Given the description of an element on the screen output the (x, y) to click on. 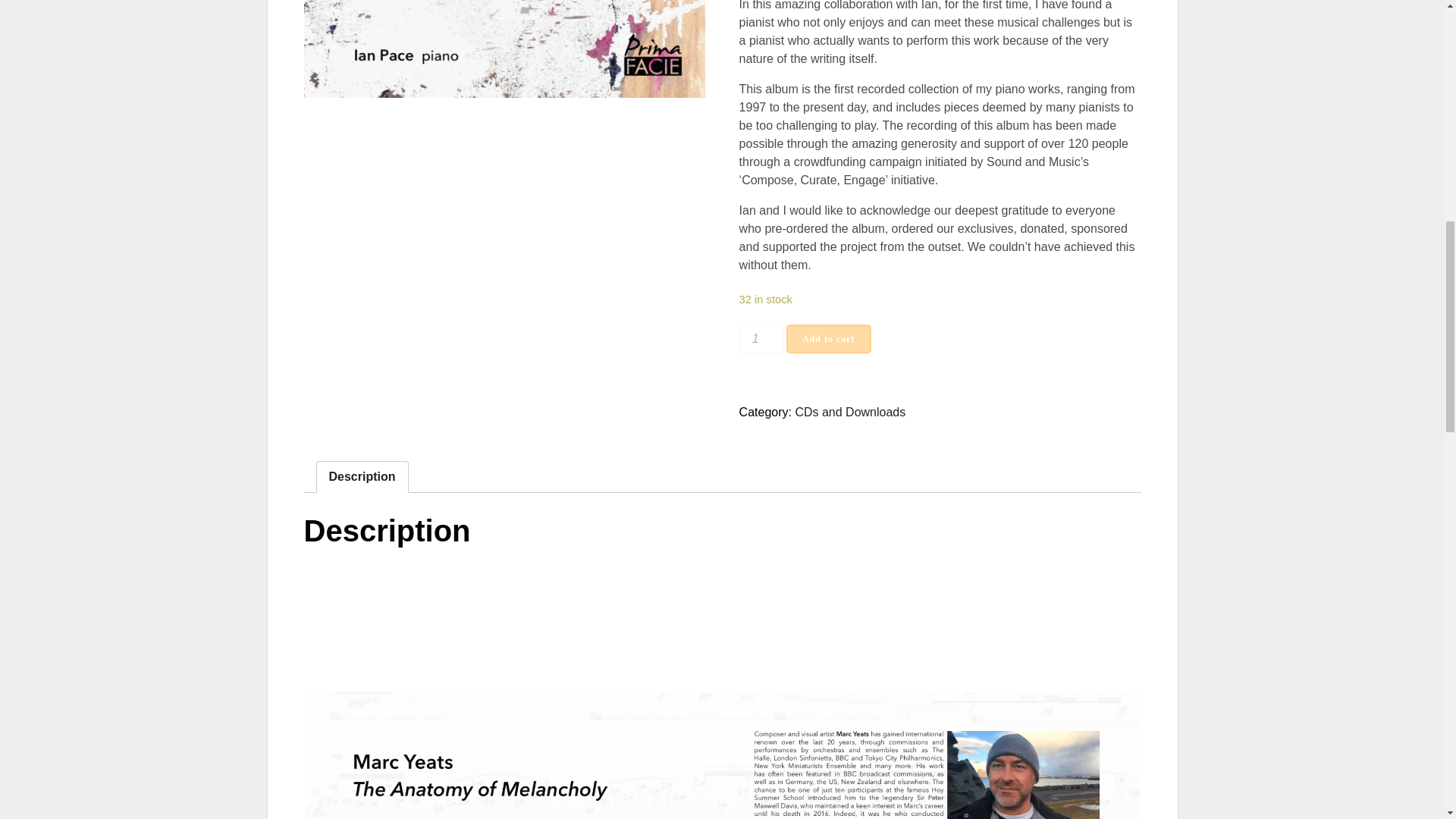
Add to cart (828, 338)
Description (362, 476)
CDs and Downloads (849, 411)
Screen Shot 2020-02-03 at 13.51.59 (503, 49)
1 (761, 338)
